Given the description of an element on the screen output the (x, y) to click on. 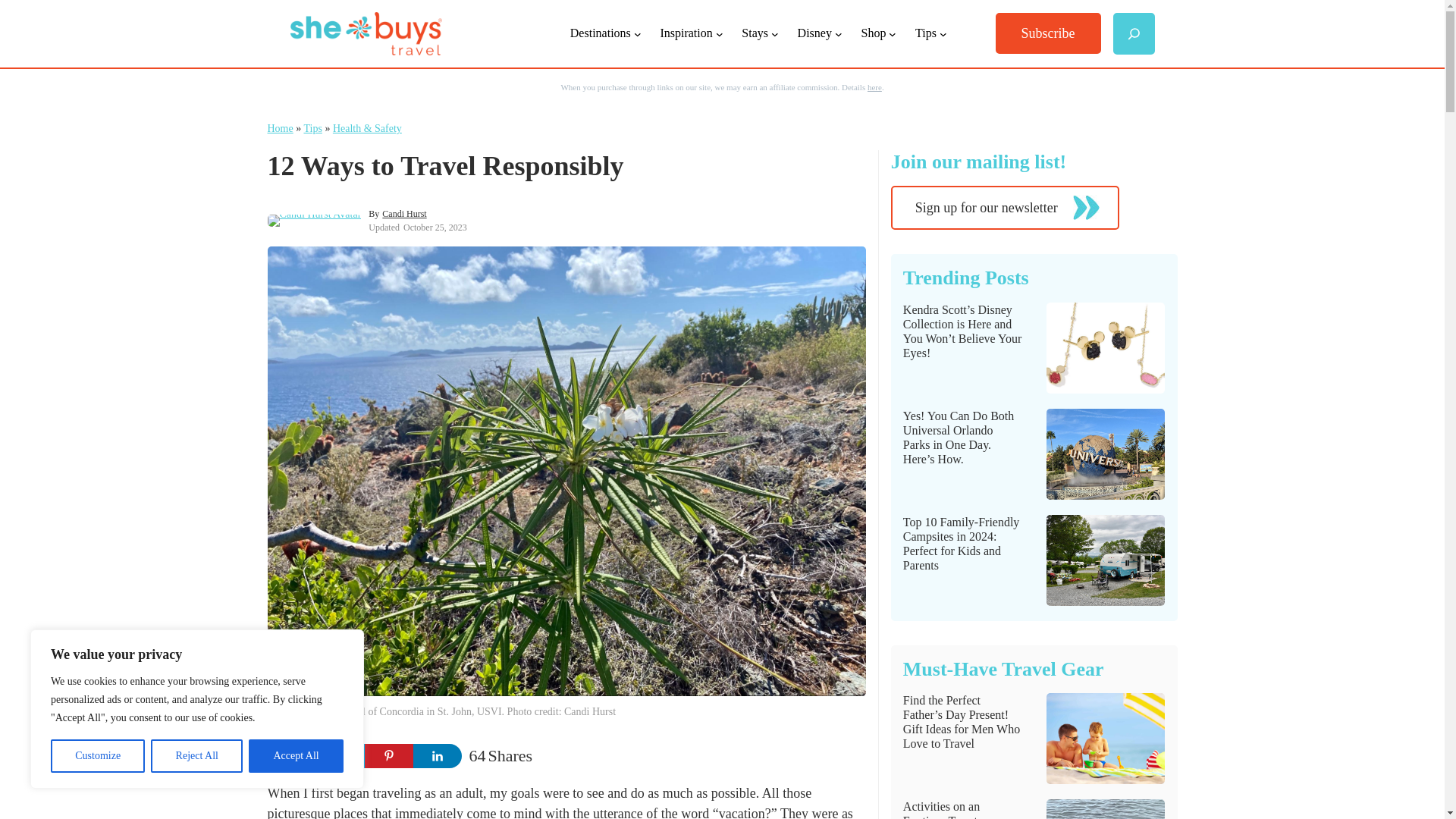
Share on Pinterest (388, 755)
Destinations (600, 32)
Inspiration (685, 32)
Customize (97, 756)
Share on Twitter (339, 755)
Share on Facebook (290, 755)
Reject All (197, 756)
Accept All (295, 756)
Share on LinkedIn (436, 755)
